Given the description of an element on the screen output the (x, y) to click on. 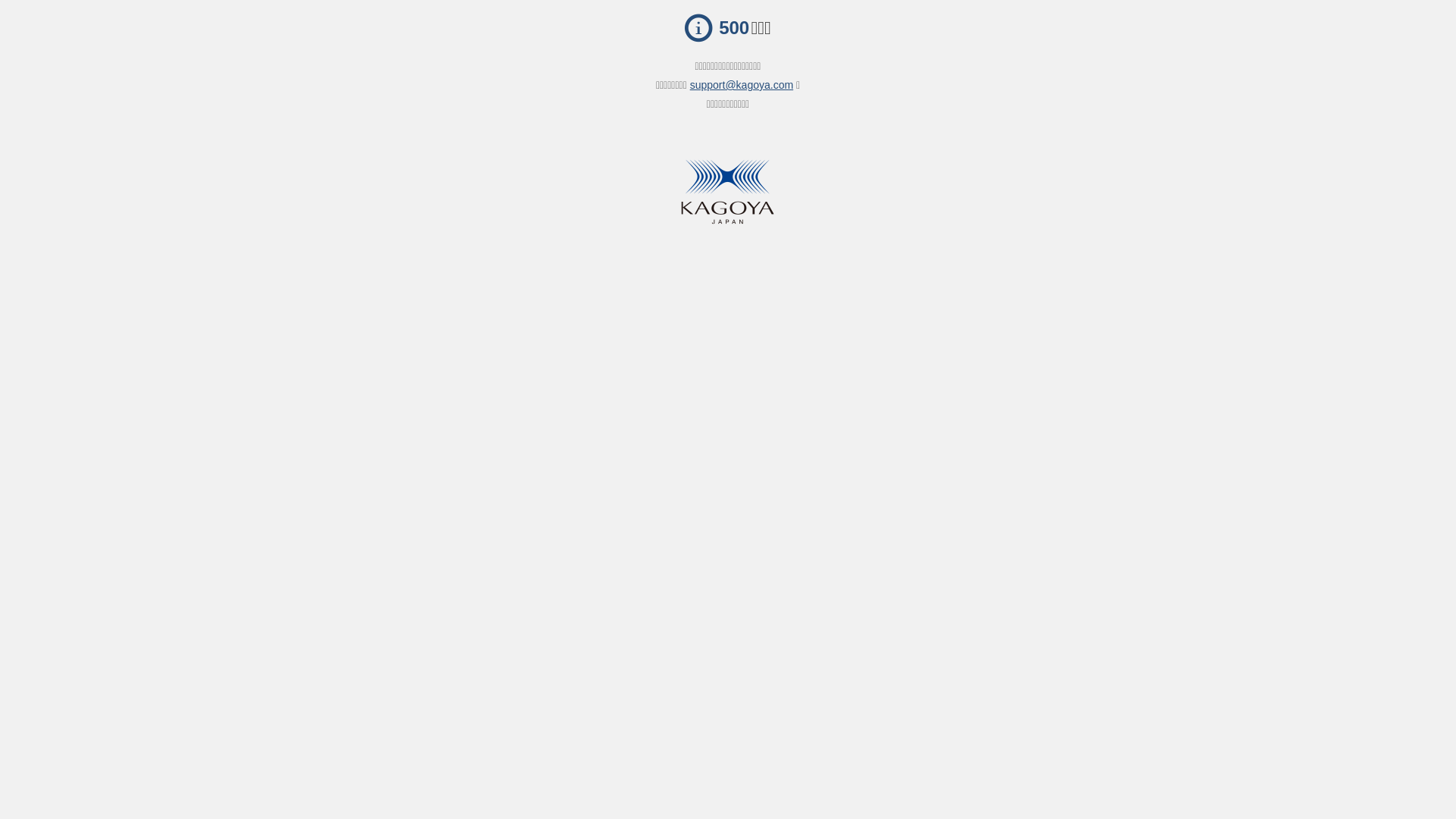
support@kagoya.com Element type: text (741, 84)
